Given the description of an element on the screen output the (x, y) to click on. 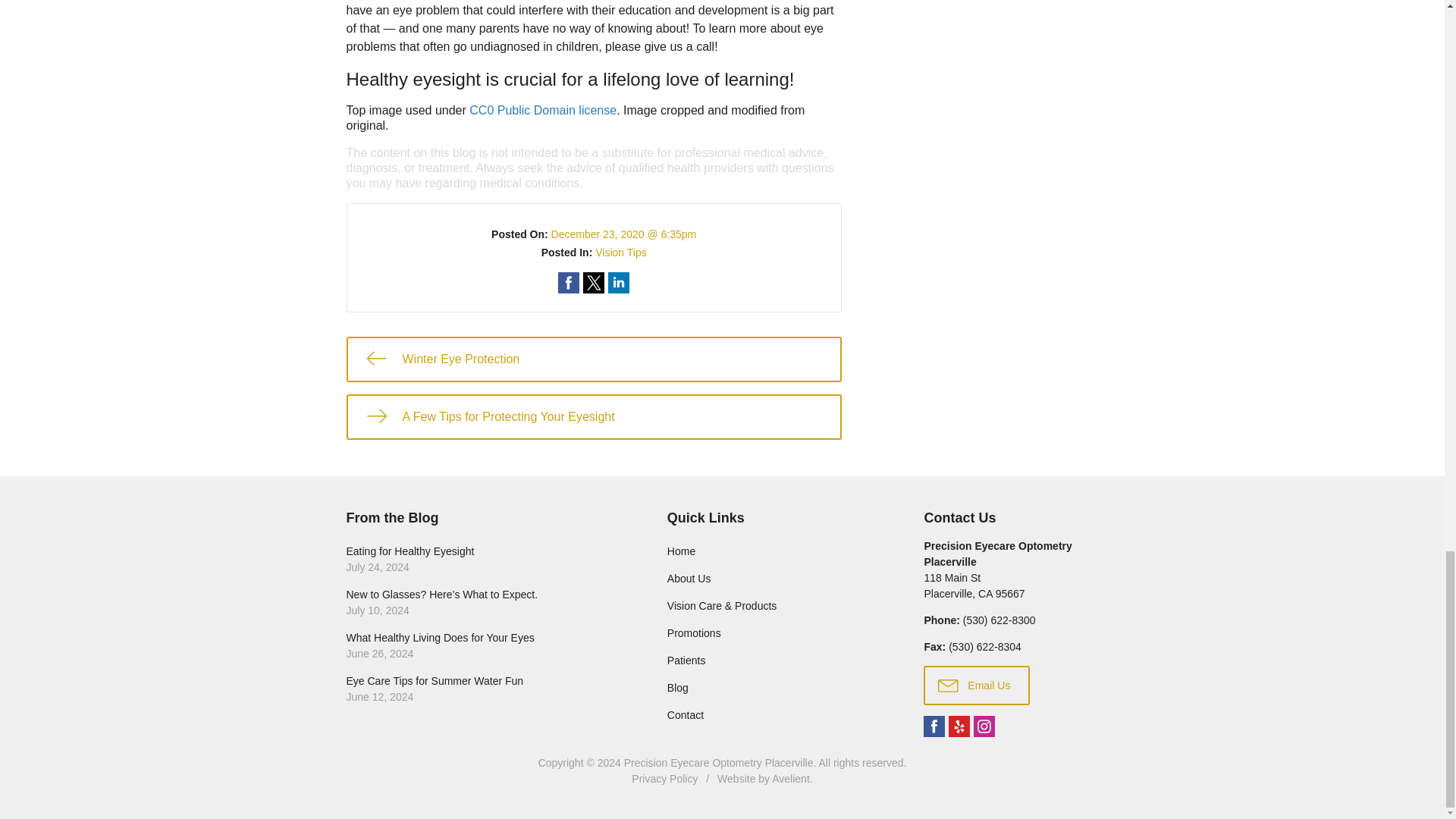
Go to our Yelp Page (959, 726)
Share on Twitter (593, 282)
Go to our Instagram Page (984, 726)
Contact practice (998, 620)
Vision Tips (620, 252)
CC0 Public Domain license (541, 110)
Share on Facebook (568, 282)
Share on LinkedIn (618, 282)
Powered by Avelient (790, 778)
Winter Eye Protection (593, 359)
Share on Twitter (593, 282)
Share on Facebook (568, 282)
Go to our Facebook Page (933, 726)
Open this address in Google Maps (974, 585)
Share on LinkedIn (618, 282)
